Given the description of an element on the screen output the (x, y) to click on. 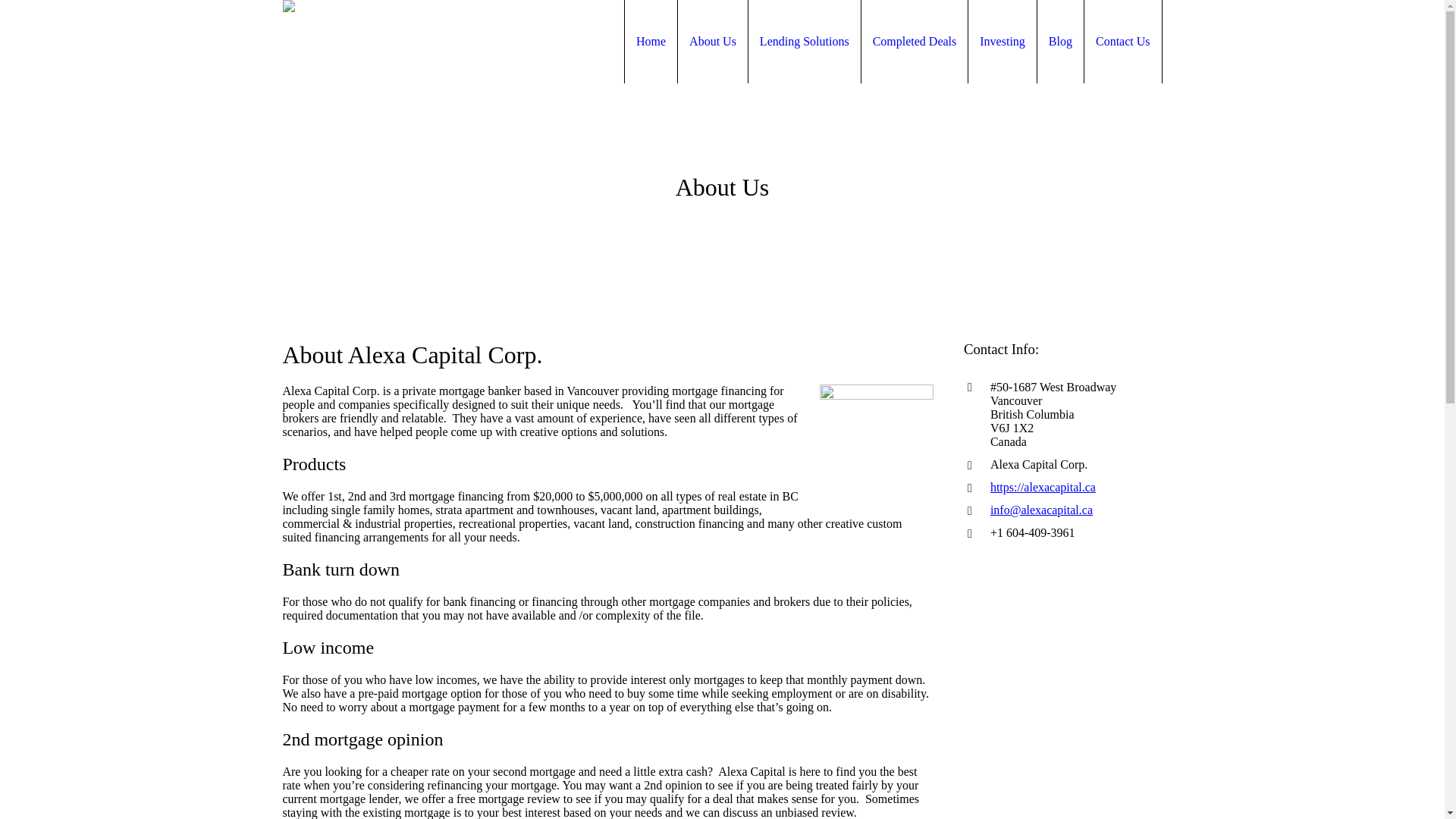
Completed Deals Element type: text (914, 41)
https://alexacapital.ca Element type: text (1042, 486)
Home Element type: text (650, 41)
Investing Element type: text (1002, 41)
About Us Element type: text (712, 41)
info@alexacapital.ca Element type: text (1041, 509)
Blog Element type: text (1060, 41)
Lending Solutions Element type: text (804, 41)
Contact Us Element type: text (1122, 41)
